Given the description of an element on the screen output the (x, y) to click on. 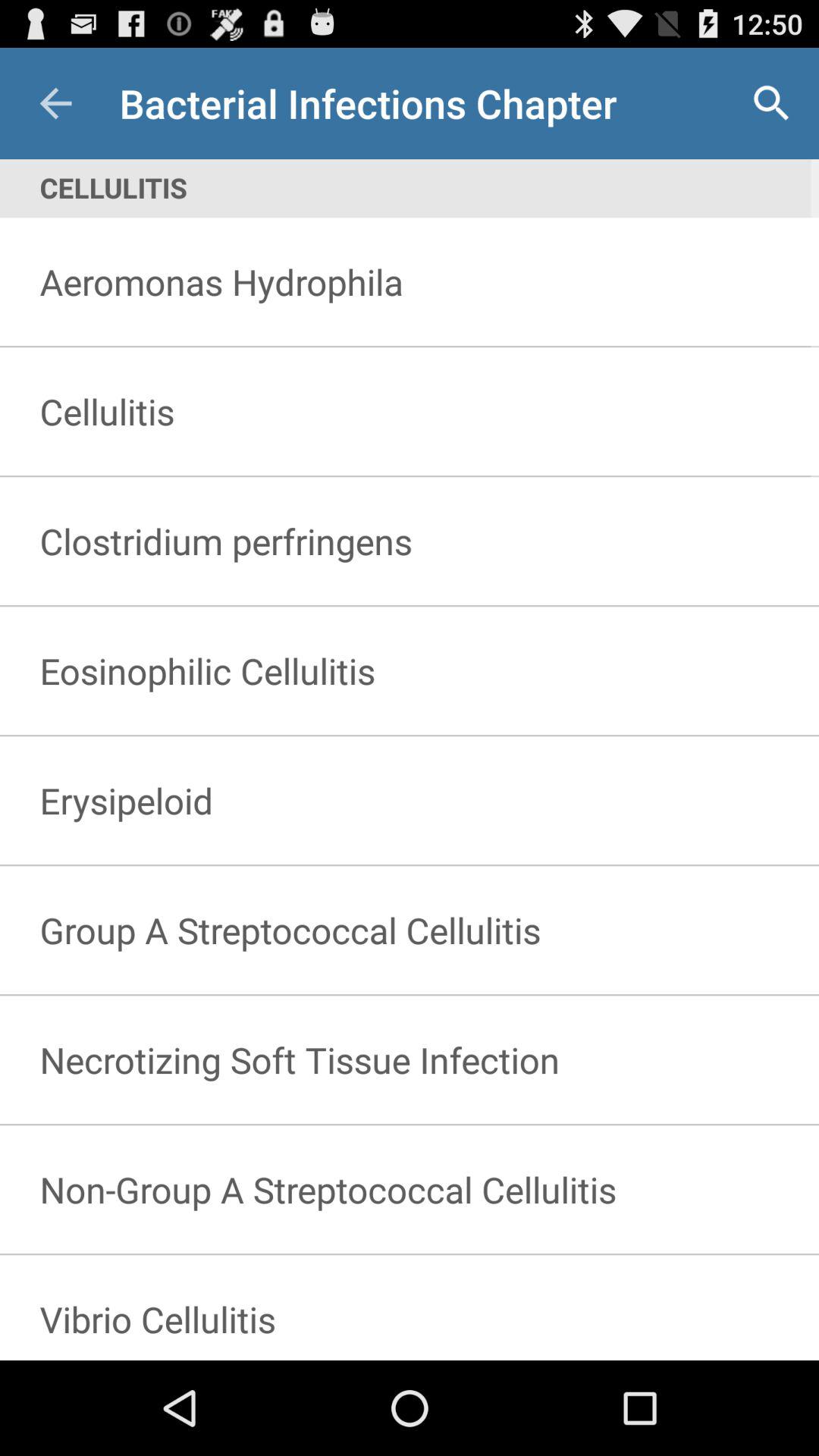
choose the app next to the bacterial infections chapter app (55, 103)
